Given the description of an element on the screen output the (x, y) to click on. 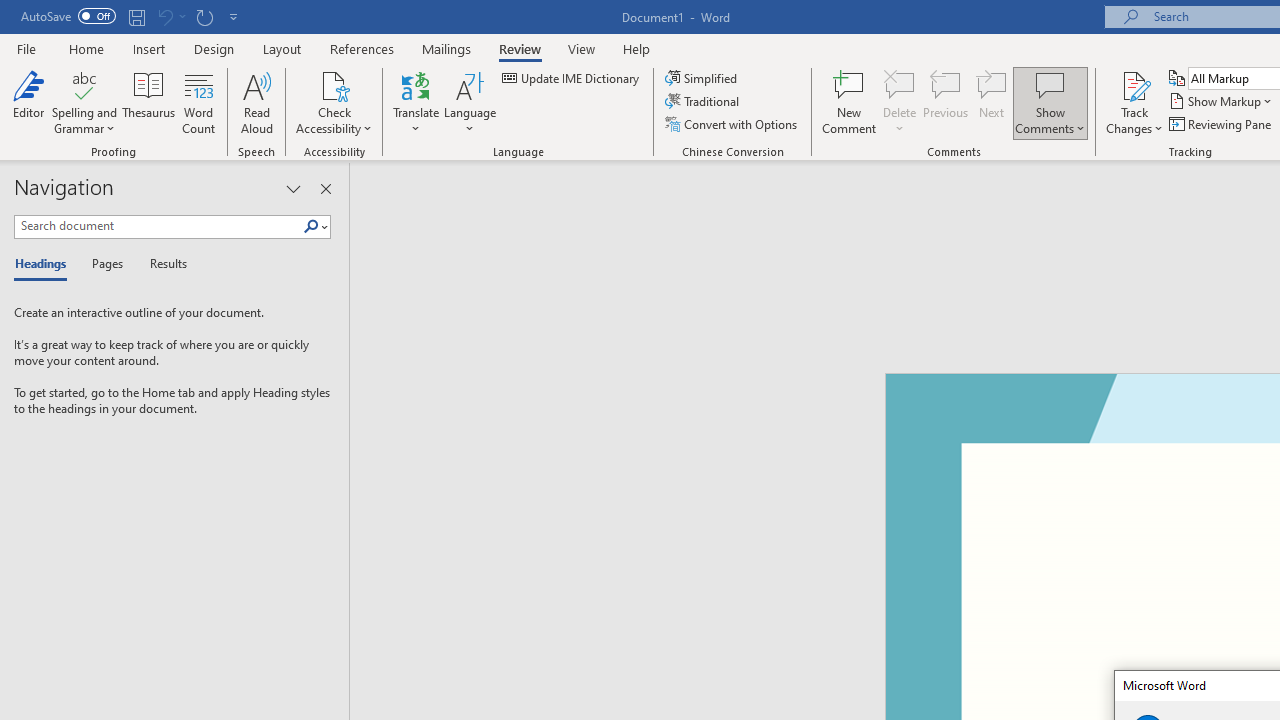
Reviewing Pane (1221, 124)
Track Changes (1134, 84)
Traditional (703, 101)
Translate (415, 102)
Update IME Dictionary... (572, 78)
Check Accessibility (334, 84)
Can't Undo (164, 15)
Delete (900, 102)
Previous (946, 102)
Show Comments (1050, 84)
Search document (157, 226)
